Given the description of an element on the screen output the (x, y) to click on. 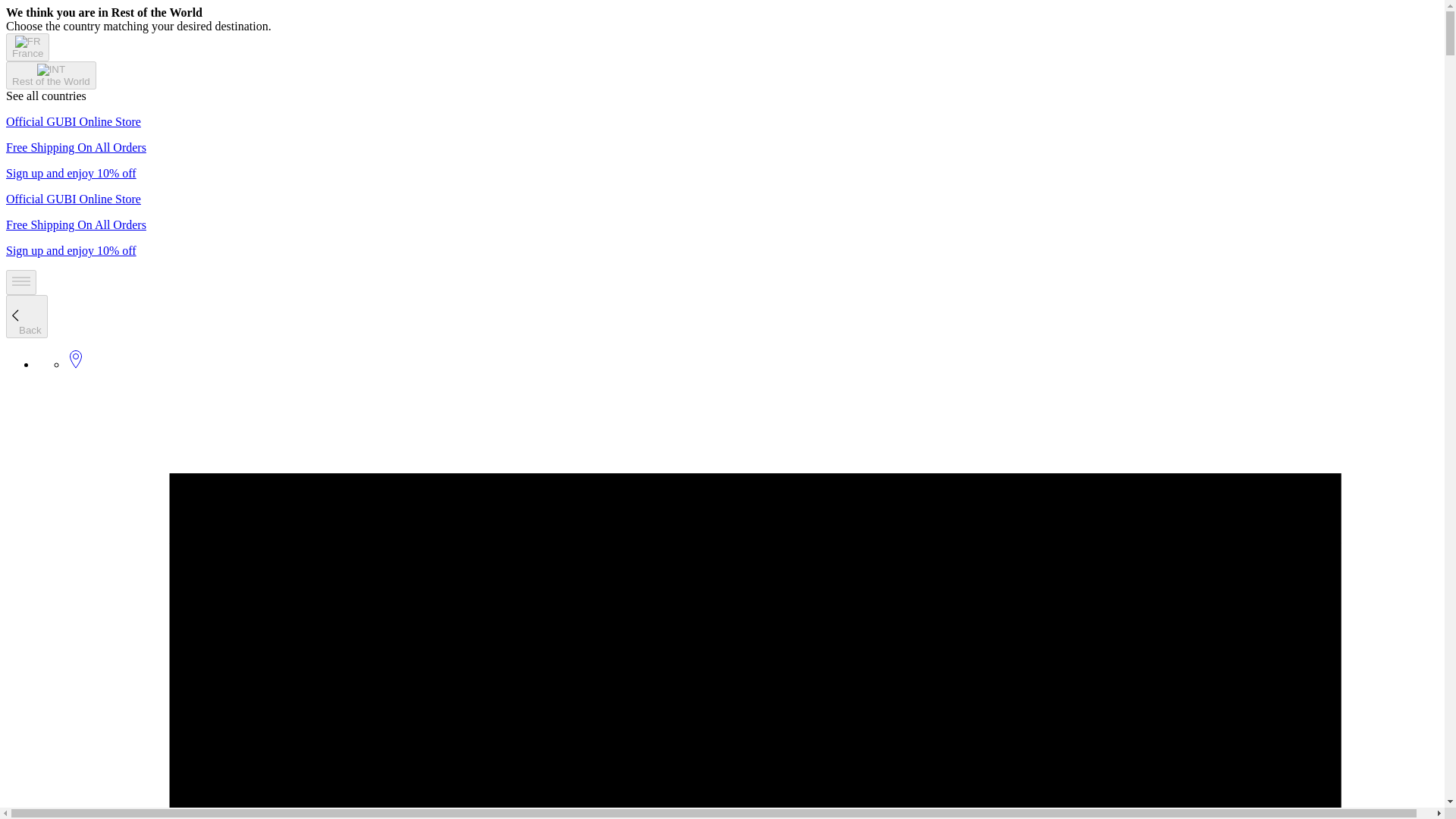
Official GUBI Online Store (73, 121)
See all countries (45, 95)
France (27, 47)
Rest of the World (50, 80)
Rest of the World (50, 75)
Free Shipping On All Orders (76, 146)
Official GUBI Online Store (73, 198)
Back (26, 316)
Free Shipping On All Orders (76, 224)
